Given the description of an element on the screen output the (x, y) to click on. 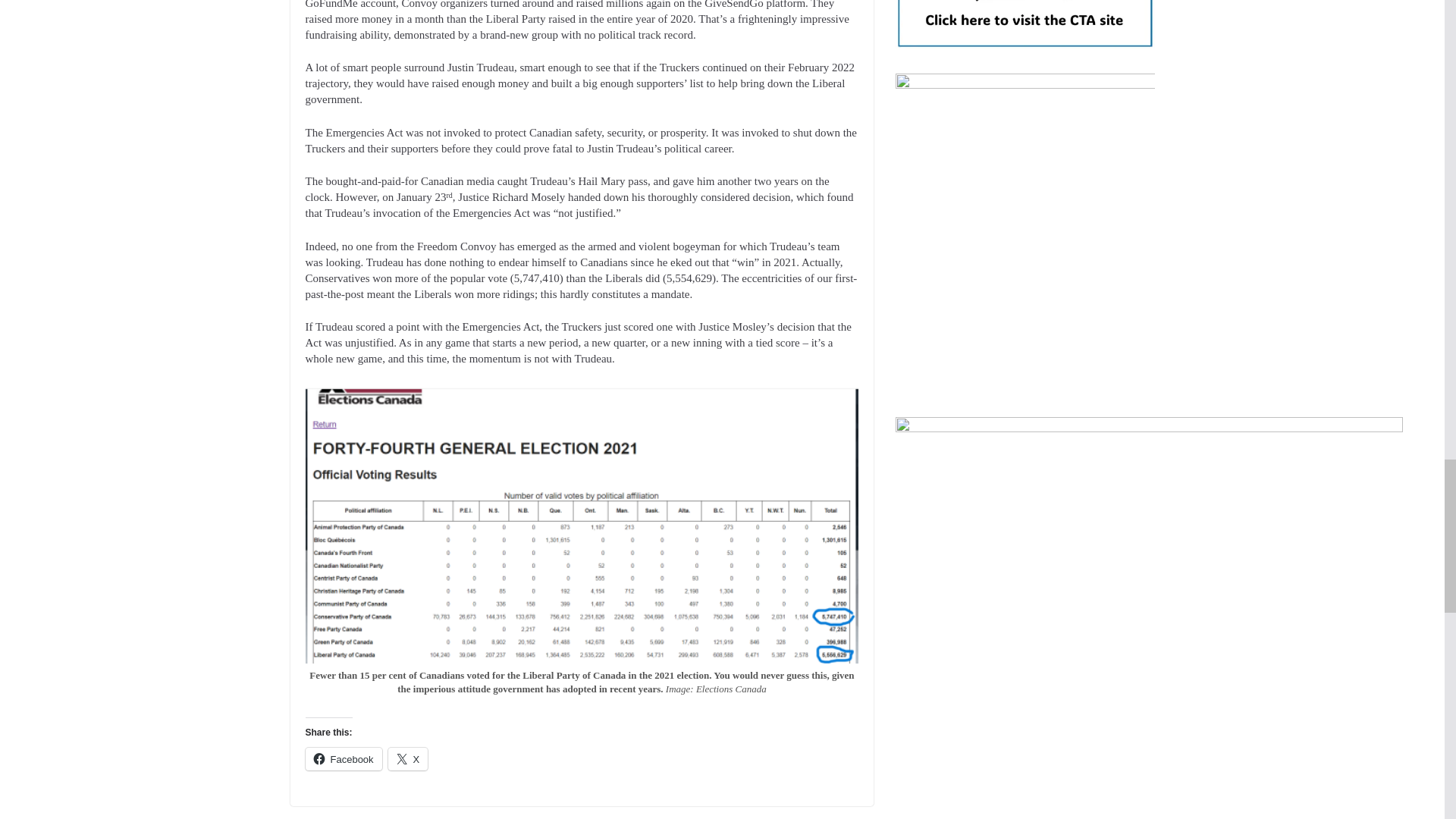
X (408, 758)
Click to share on X (408, 758)
Facebook (342, 758)
Click to share on Facebook (342, 758)
